Given the description of an element on the screen output the (x, y) to click on. 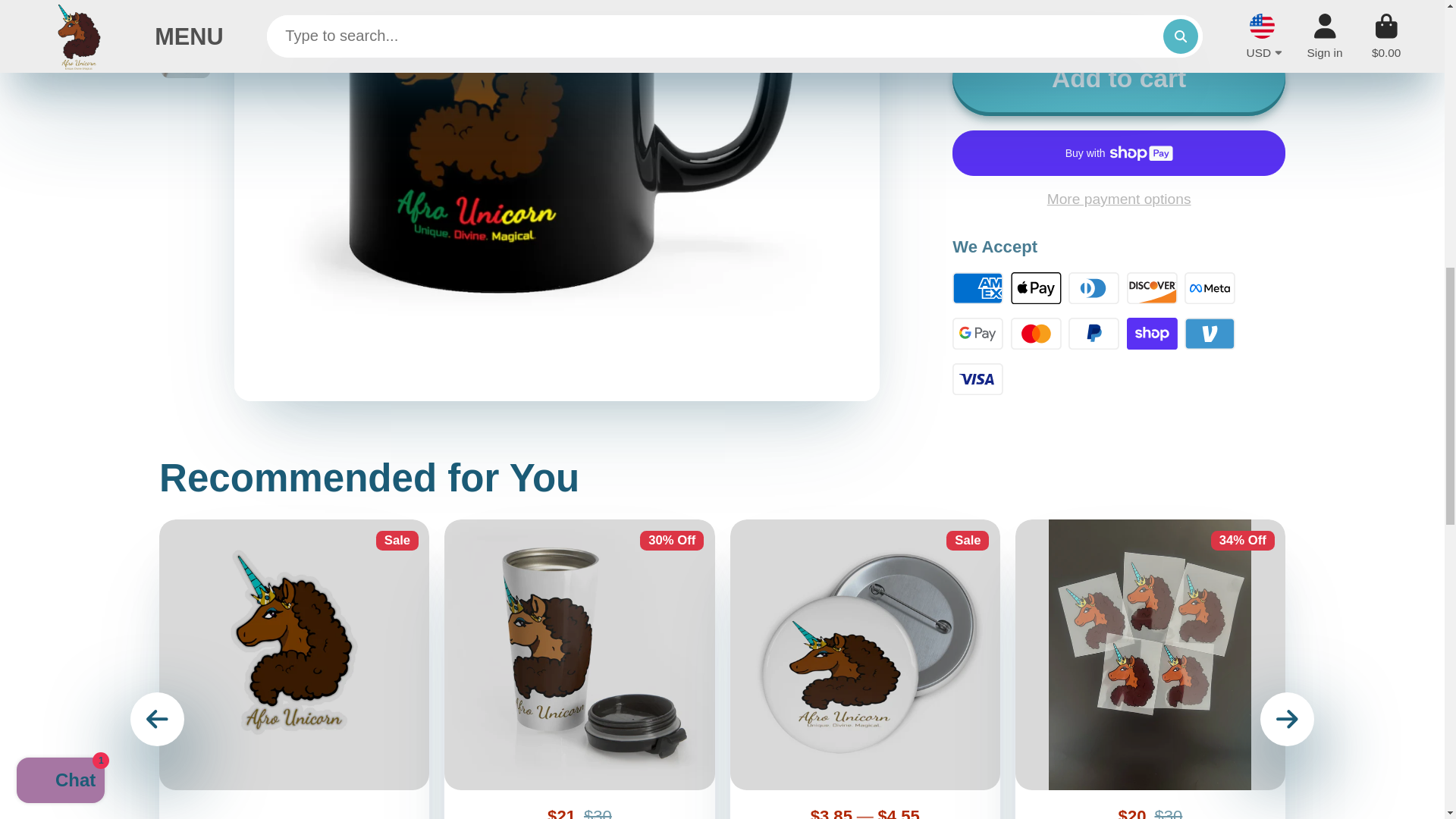
Shop Pay (1151, 333)
Mastercard (1035, 333)
Afro Unicorn Iron On DTF Transfers (1149, 669)
PayPal (1093, 333)
Cut-out Caramel Stickers (293, 669)
Add to cart (1118, 78)
Meta Pay (1209, 287)
Discover (1151, 287)
Diners Club (1093, 287)
Afro Unicorn Pin Buttons - Caramel (865, 669)
Google Pay (977, 333)
Apple Pay (1035, 287)
More payment options (1118, 199)
Venmo (1209, 333)
American Express (977, 287)
